Given the description of an element on the screen output the (x, y) to click on. 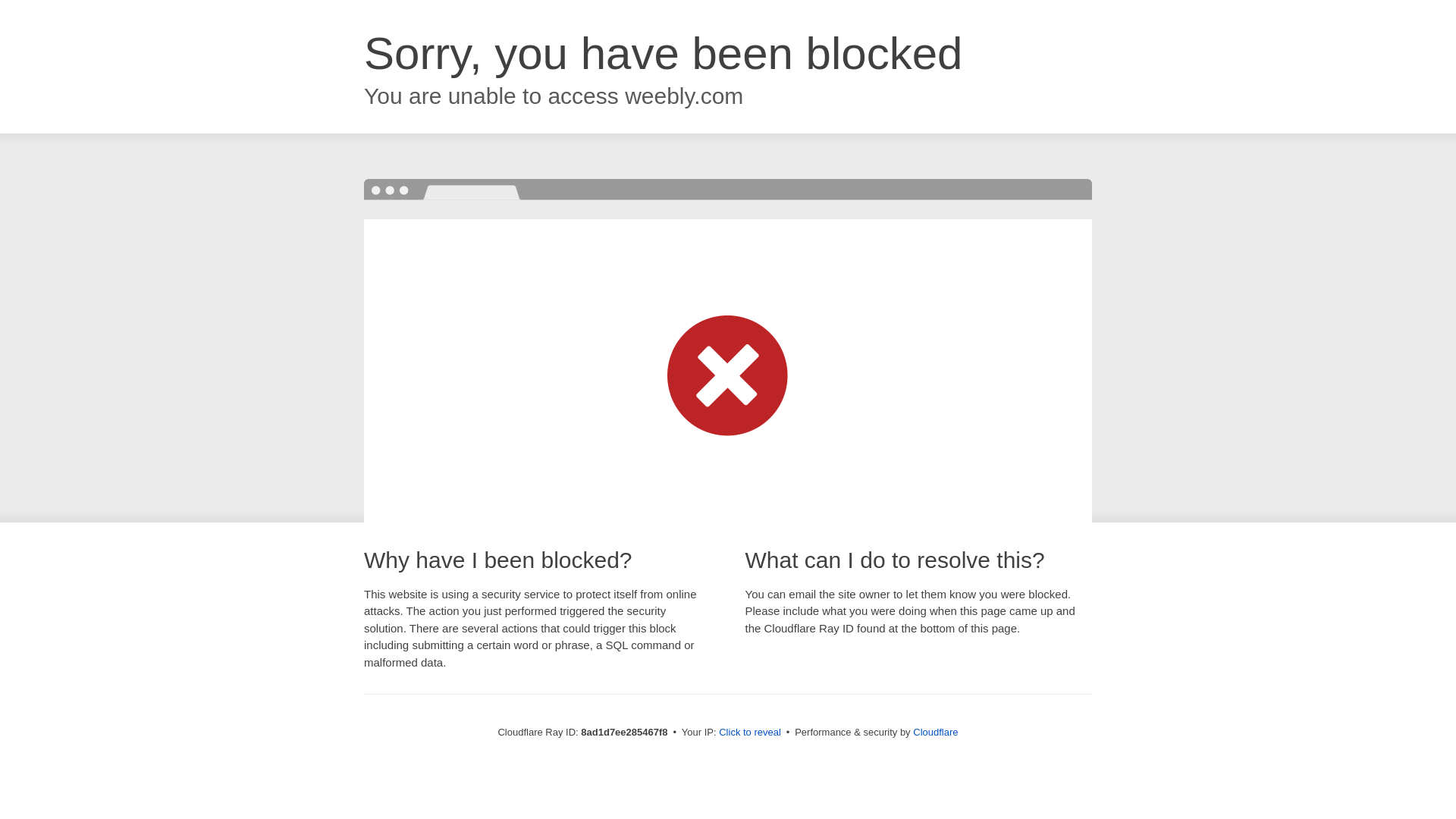
Click to reveal (749, 732)
Cloudflare (935, 731)
